Given the description of an element on the screen output the (x, y) to click on. 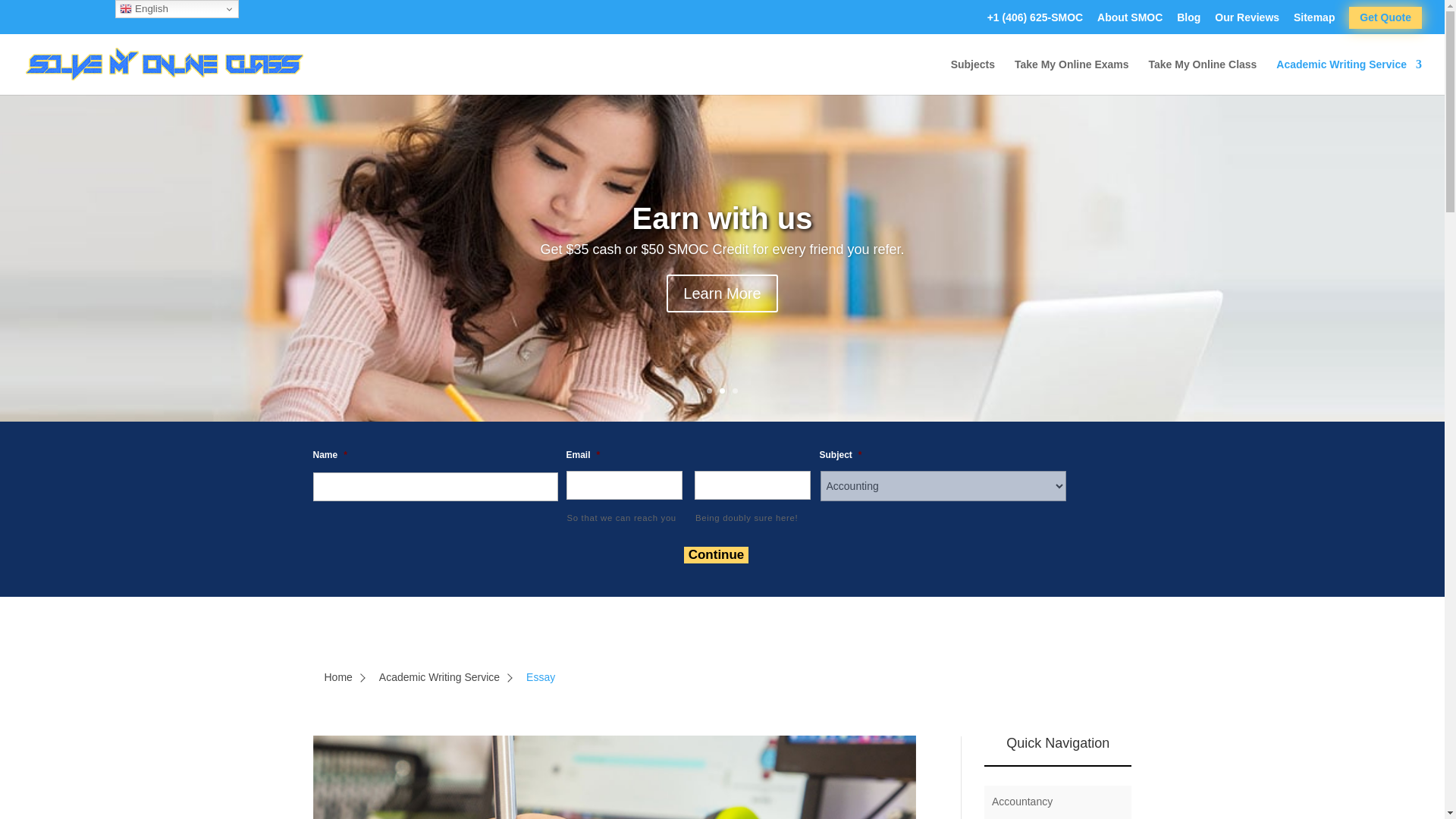
Our Reviews (1246, 21)
Learn More (721, 300)
2 (722, 390)
Take My Online Class (1202, 76)
About SMOC (1129, 21)
Blog (1187, 21)
Subjects (972, 76)
Academic Writing Service (1349, 76)
Continue (716, 555)
Get Quote (1385, 17)
Sitemap (1314, 21)
Earn with us (721, 227)
Take My Online Exams (1071, 76)
1 (708, 390)
